Given the description of an element on the screen output the (x, y) to click on. 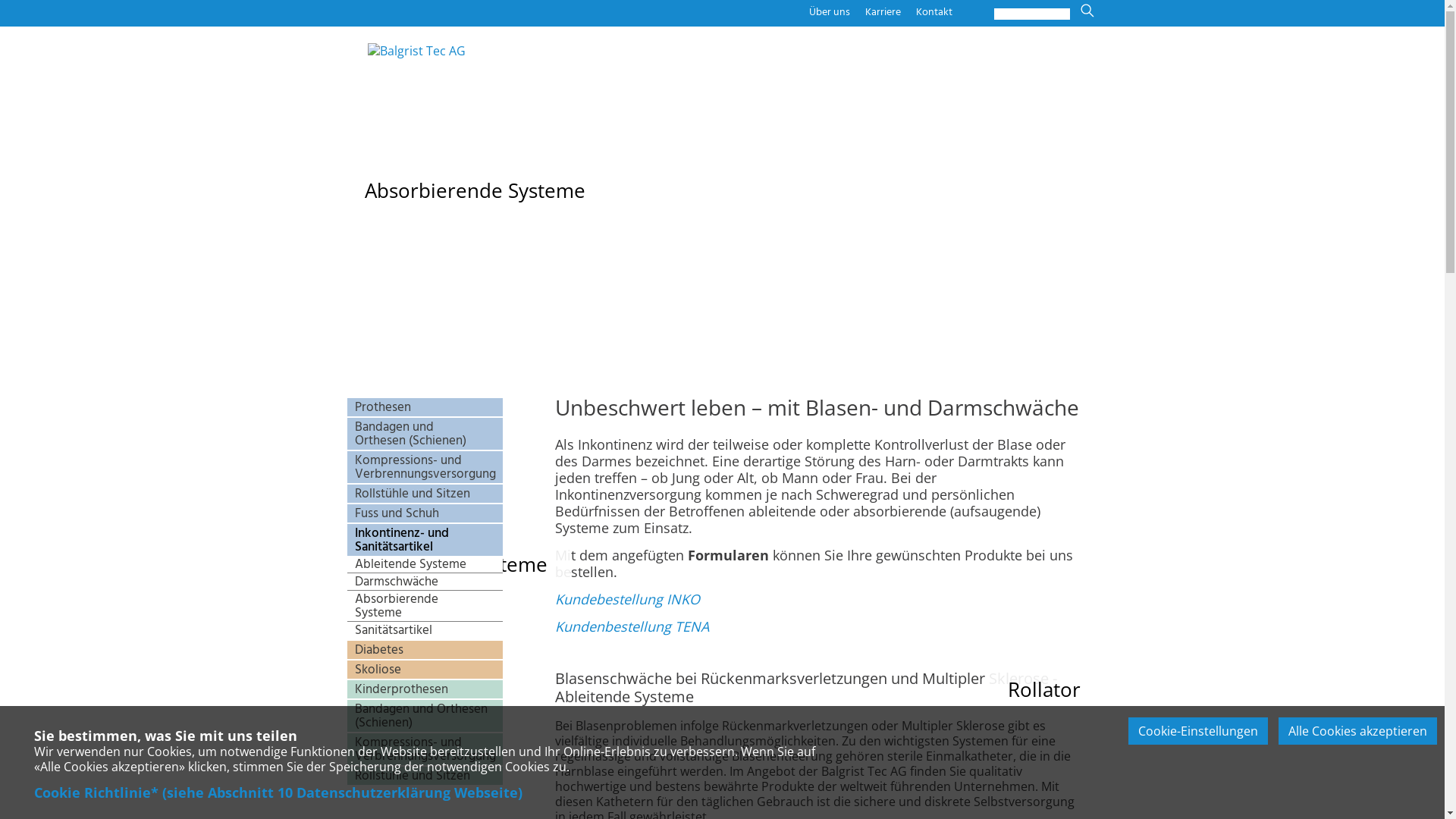
Kompressions- und Verbrennungsversorgung Element type: text (424, 749)
Kinderprothesen Element type: text (424, 689)
Kontakt Element type: text (934, 11)
Absorbierende Systeme Element type: text (424, 605)
Prothesen Element type: text (424, 407)
  Element type: text (710, 626)
Alle Cookies akzeptieren Element type: text (1357, 730)
Bandagen und Orthesen (Schienen) Element type: text (424, 715)
Karriere Element type: text (882, 11)
Diabetes Element type: text (424, 649)
Skoliose Element type: text (424, 669)
Fuss und Schuh Element type: text (424, 513)
  Element type: text (1079, 75)
Kundebestellung INKO Element type: text (627, 598)
Ableitende Systeme Element type: text (424, 564)
Kompressions- und
Verbrennungsversorgung Element type: text (424, 467)
Kundenbestellung TENA Element type: text (632, 626)
Bandagen und
Orthesen (Schienen) Element type: text (424, 433)
